Given the description of an element on the screen output the (x, y) to click on. 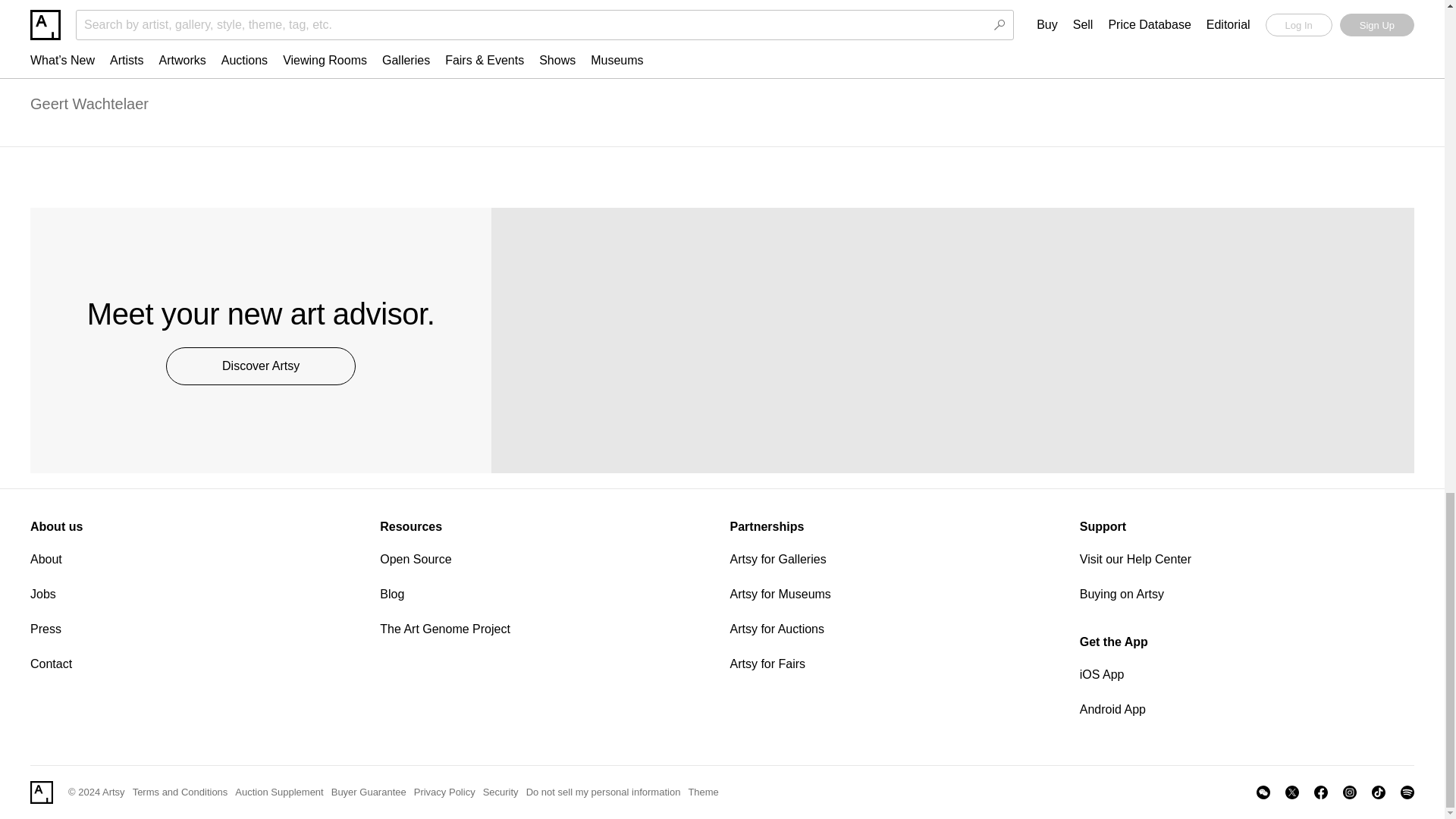
Blog (547, 594)
The Art Genome Project (547, 629)
Artsy for Auctions (896, 629)
About (197, 559)
Visit our Help Center (1246, 559)
Open Source (547, 559)
Artsy for Museums (896, 594)
Discover Artsy (260, 365)
Contact (197, 664)
Artsy for Fairs (896, 664)
